Given the description of an element on the screen output the (x, y) to click on. 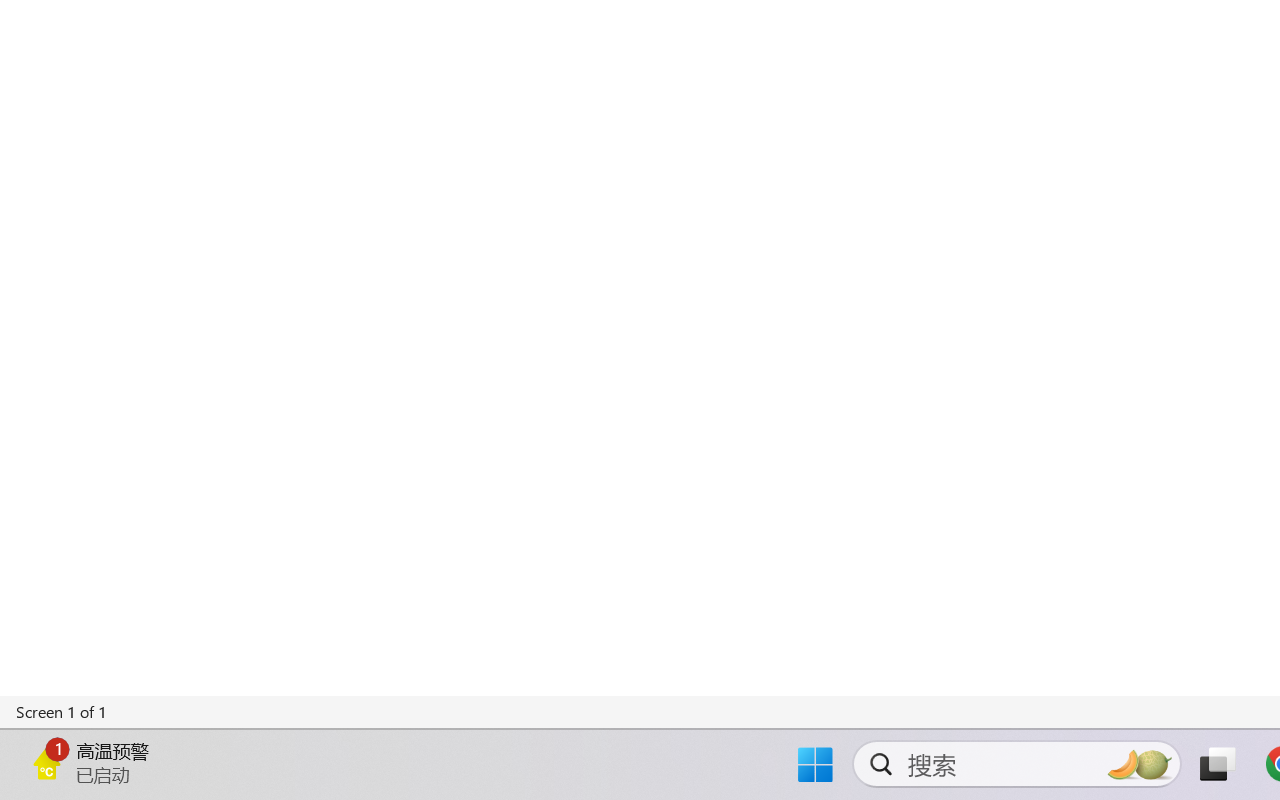
Page Number Screen 1 of 1  (62, 712)
